Given the description of an element on the screen output the (x, y) to click on. 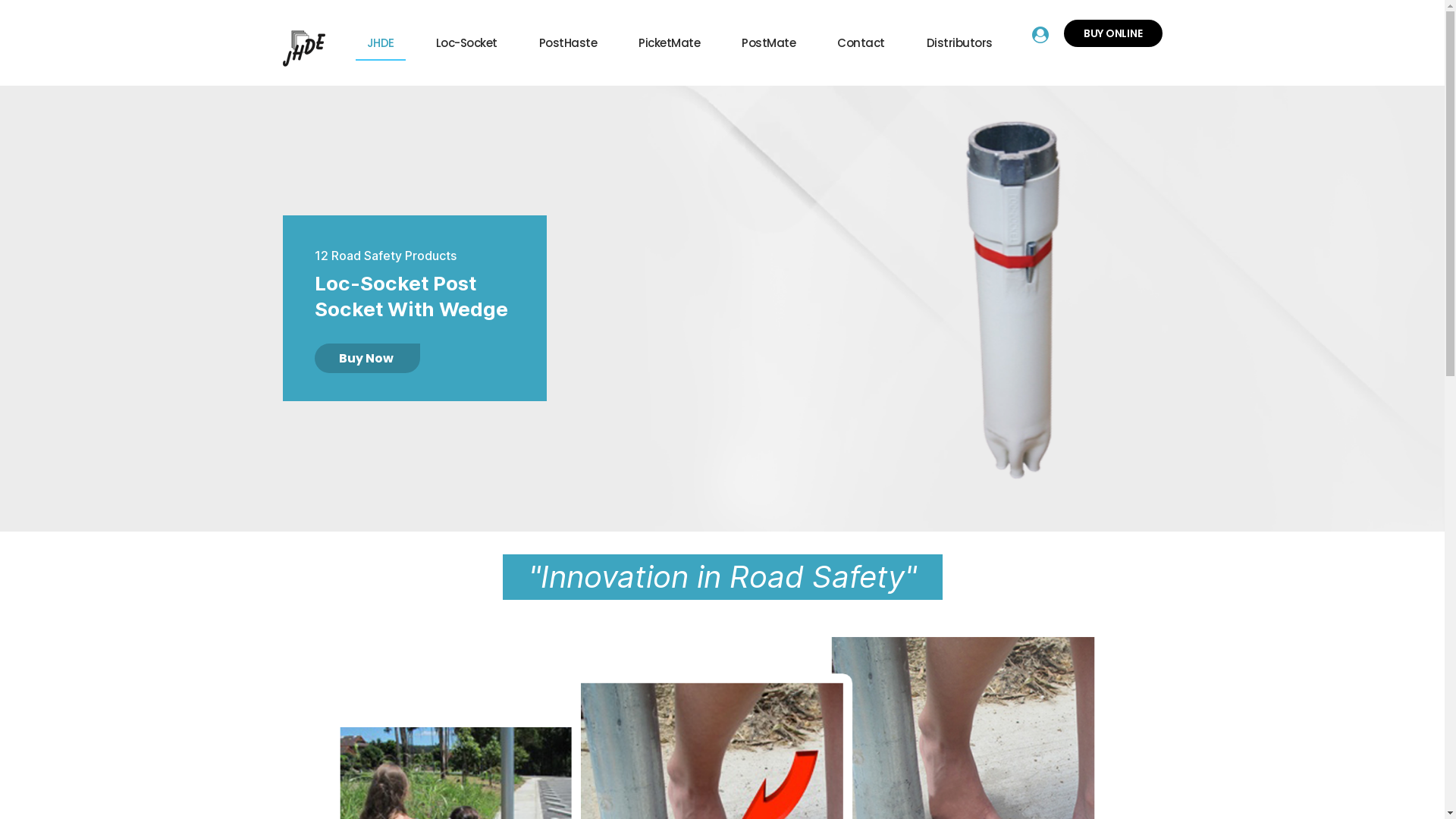
PostMate Element type: text (768, 48)
hme-bnr Element type: hover (722, 308)
JHDE Element type: text (379, 48)
Loc-Socket Element type: text (466, 48)
PicketMate Element type: text (669, 48)
PostHaste Element type: text (567, 48)
Distributors Element type: text (959, 48)
BUY ONLINE Element type: text (1112, 33)
Buy Now Element type: text (366, 358)
Contact Element type: text (860, 48)
